Given the description of an element on the screen output the (x, y) to click on. 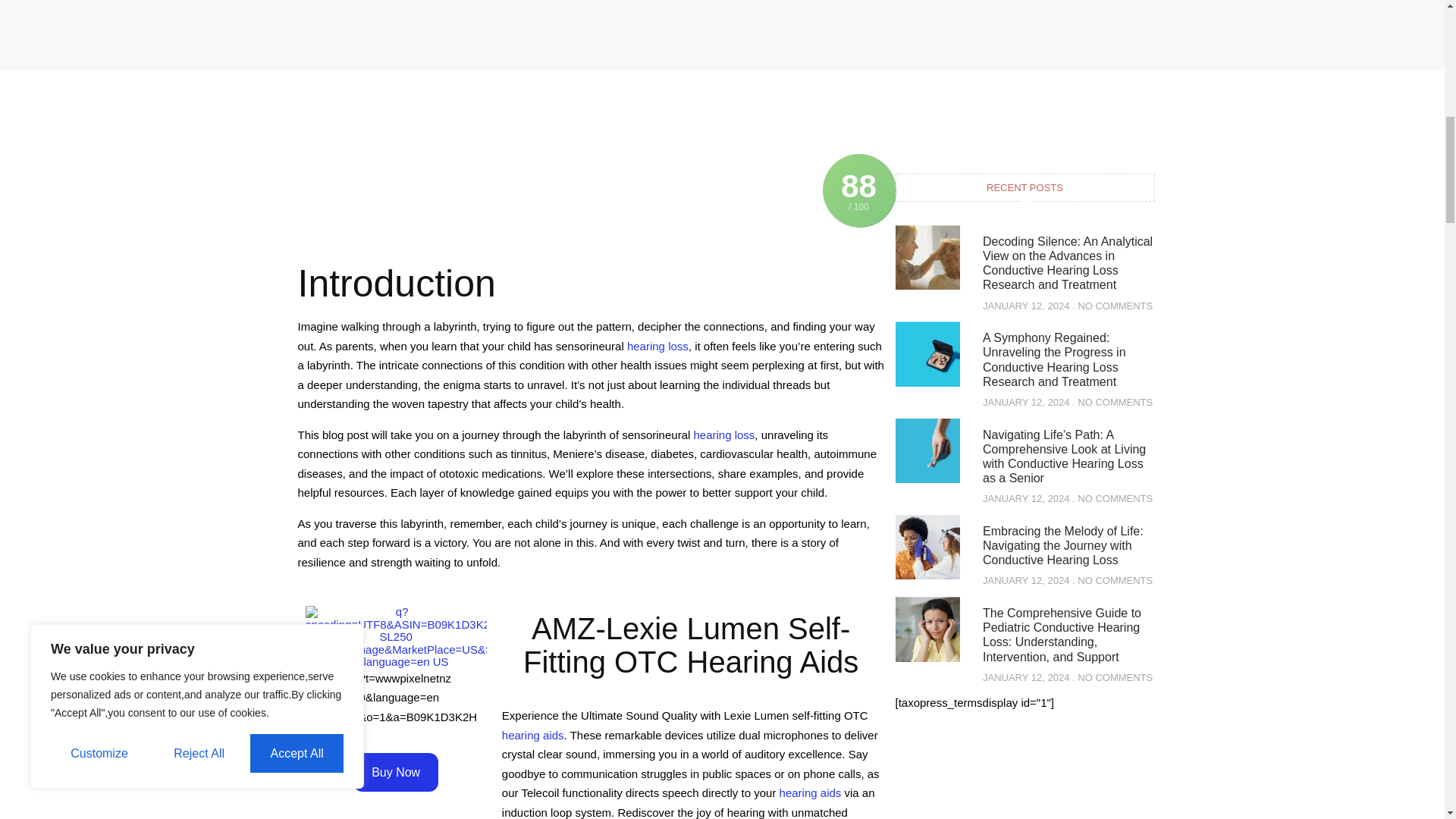
otofonix hearing aid solutions (533, 735)
otofonix hearing aid solutions (809, 792)
hearing (723, 434)
hearing (657, 345)
